Given the description of an element on the screen output the (x, y) to click on. 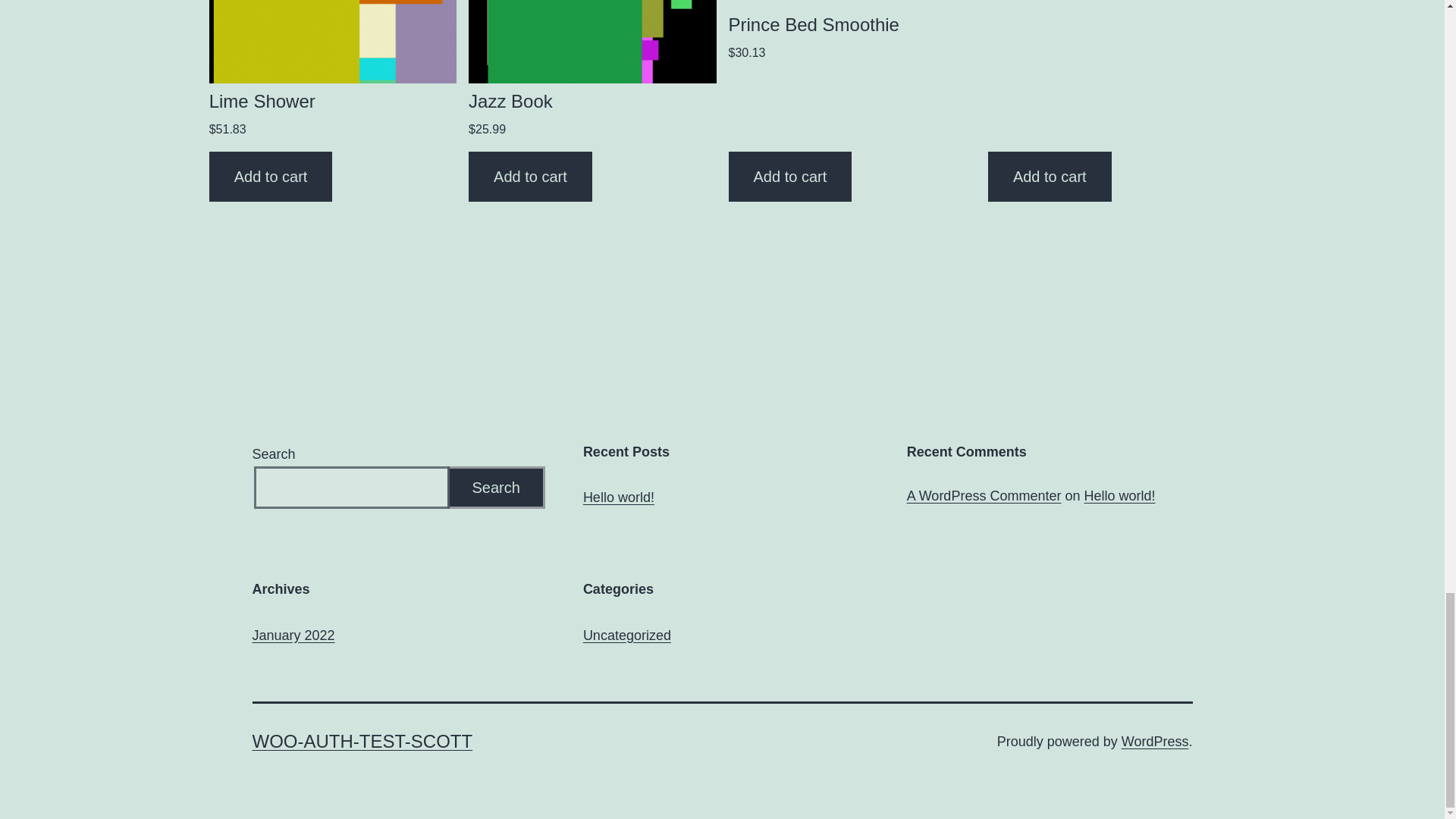
January 2022 (292, 635)
Add to cart (271, 176)
A WordPress Commenter (984, 495)
WOO-AUTH-TEST-SCOTT (361, 741)
Uncategorized (627, 635)
Hello world! (618, 497)
Add to cart (1050, 176)
Search (495, 487)
Add to cart (530, 176)
Hello world! (1118, 495)
